Given the description of an element on the screen output the (x, y) to click on. 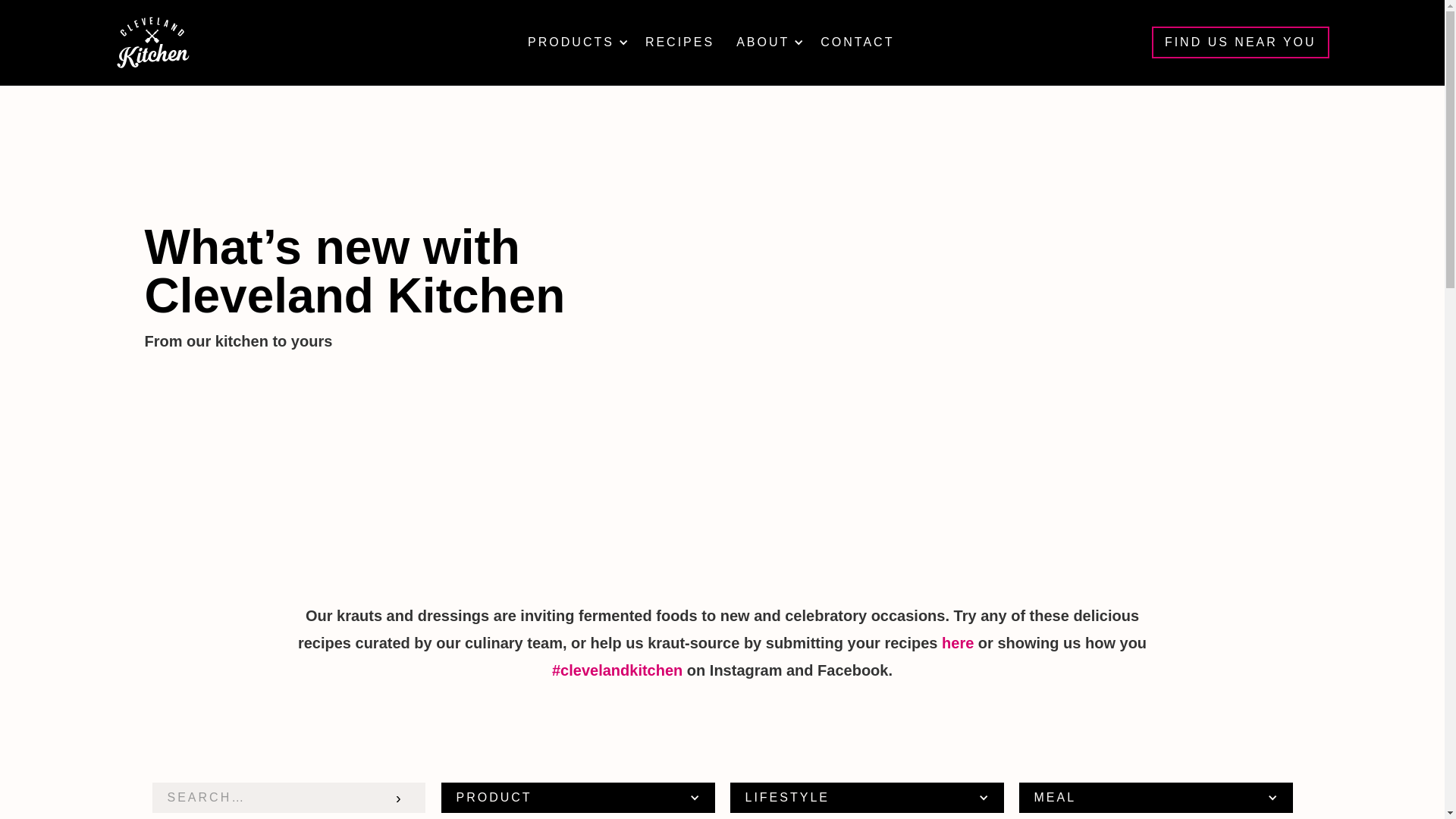
RECIPES (679, 42)
CONTACT (856, 42)
FIND US NEAR YOU (1240, 42)
here (958, 642)
